Given the description of an element on the screen output the (x, y) to click on. 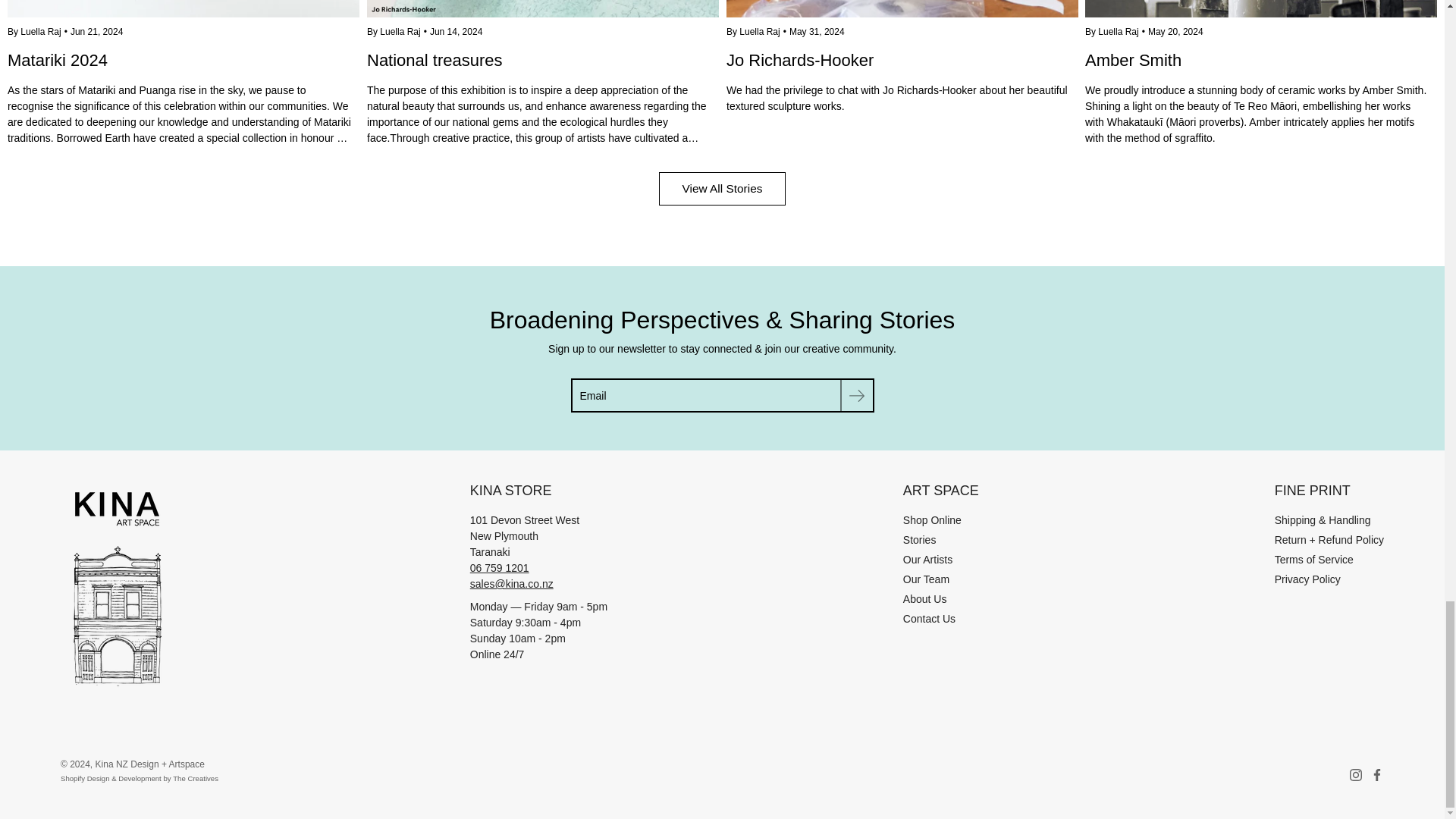
Amber Smith (1260, 8)
tel:006467591201 (499, 567)
Amber Smith (1260, 86)
Matariki 2024 (183, 86)
National treasures (542, 8)
Matariki 2024 (183, 8)
Jo Richards-Hooker (902, 70)
Jo Richards-Hooker (902, 8)
National treasures (542, 86)
